Given the description of an element on the screen output the (x, y) to click on. 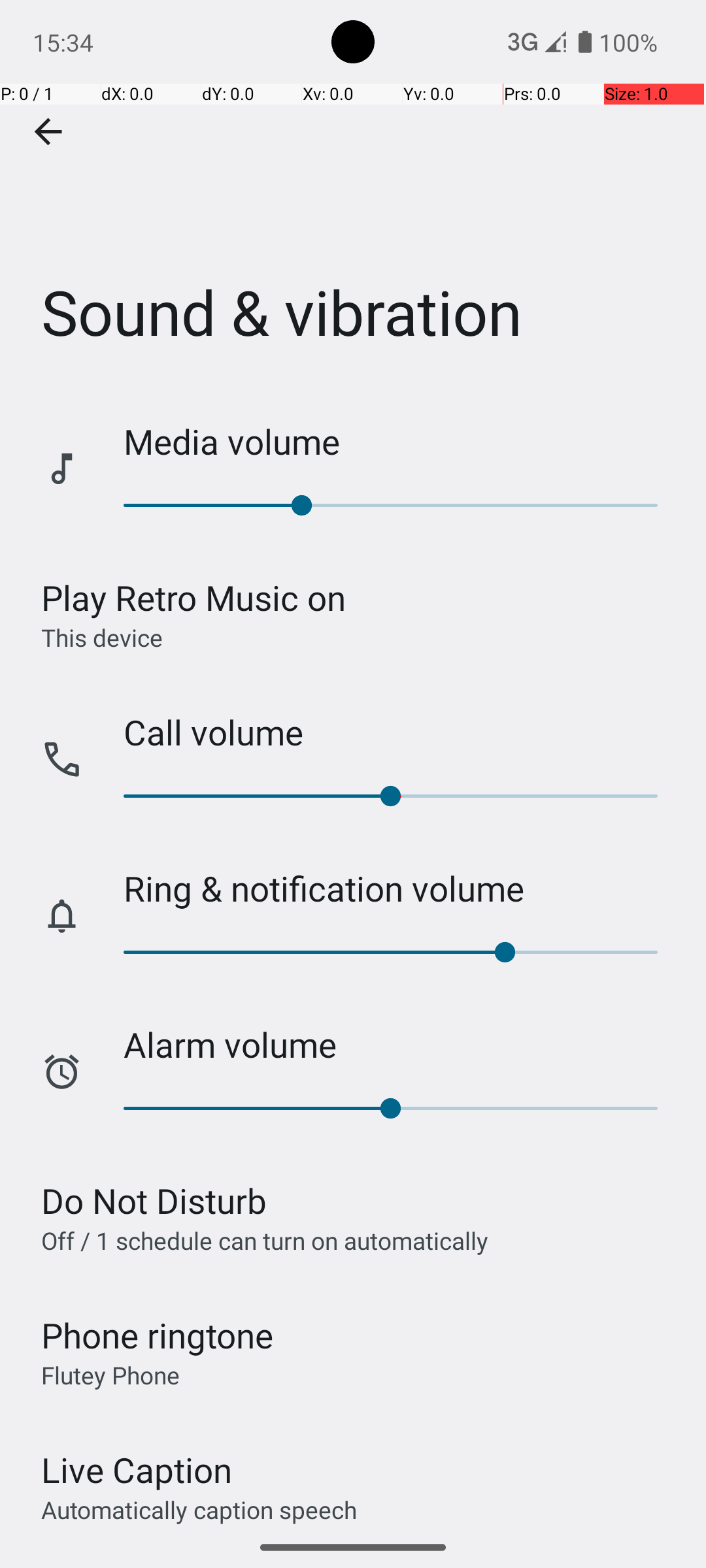
Media volume Element type: android.widget.TextView (400, 441)
Play Retro Music on Element type: android.widget.TextView (193, 597)
This device Element type: android.widget.TextView (101, 636)
Call volume Element type: android.widget.TextView (400, 731)
Ring & notification volume Element type: android.widget.TextView (400, 888)
Alarm volume Element type: android.widget.TextView (400, 1044)
Off / 1 schedule can turn on automatically Element type: android.widget.TextView (264, 1240)
Phone ringtone Element type: android.widget.TextView (157, 1334)
Flutey Phone Element type: android.widget.TextView (110, 1374)
Live Caption Element type: android.widget.TextView (136, 1469)
Automatically caption speech Element type: android.widget.TextView (199, 1509)
